Given the description of an element on the screen output the (x, y) to click on. 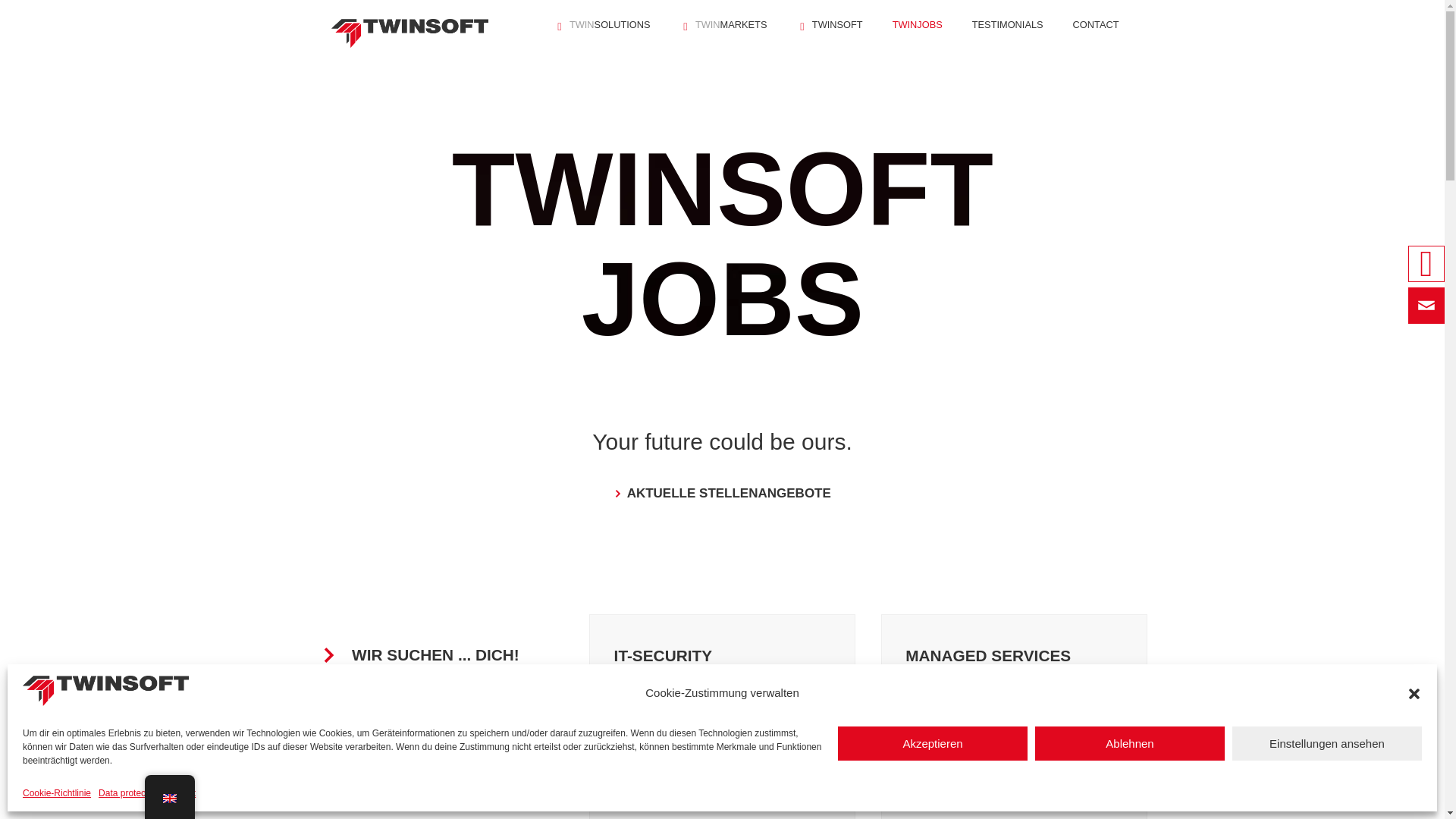
TWINJOBS (917, 24)
CONTACT (1096, 24)
Data protection (129, 793)
Akzeptieren (932, 743)
TWINSOLUTIONS (600, 24)
Einstellungen ansehen (1326, 743)
Cookie-Richtlinie (56, 793)
Ablehnen (1129, 743)
TWINSOFT (828, 24)
TESTIMONIALS (1008, 24)
Imprint (181, 793)
TWINMARKETS (723, 24)
